Given the description of an element on the screen output the (x, y) to click on. 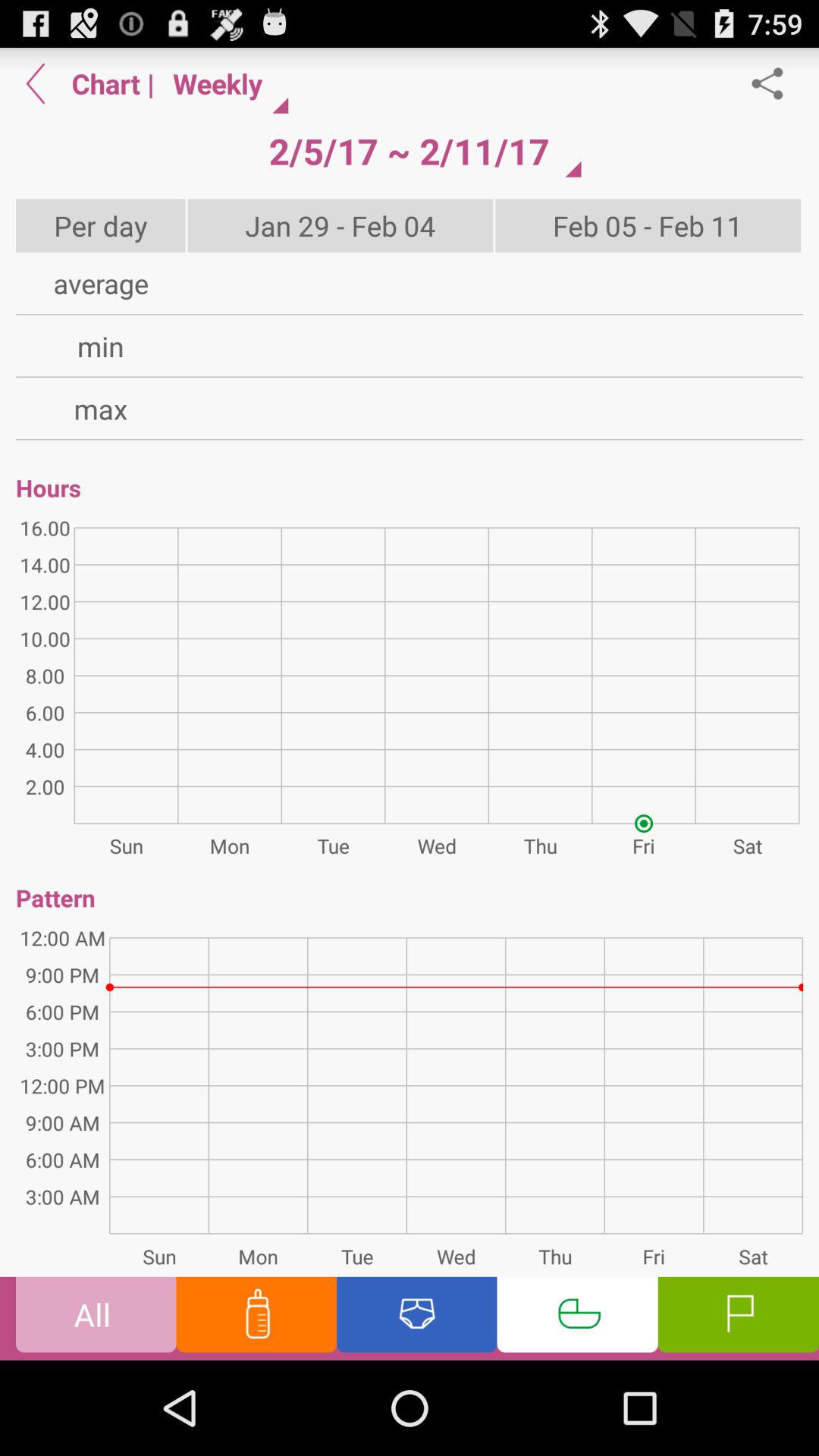
share the chart (775, 83)
